Given the description of an element on the screen output the (x, y) to click on. 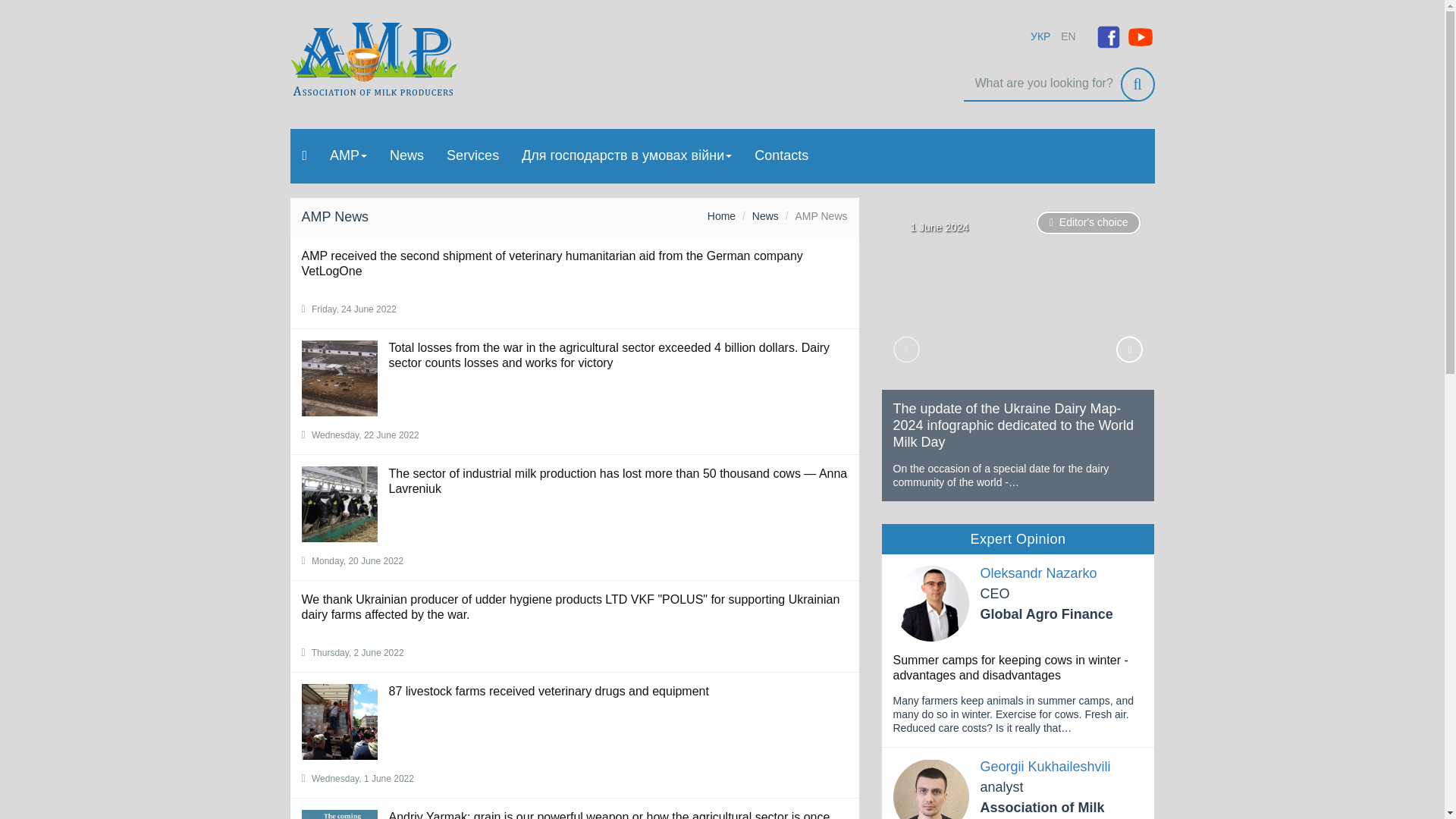
Oleksandr Nazarko (1037, 572)
Home (721, 215)
EN (1068, 36)
Services (473, 155)
News (406, 155)
Expert Opinion (1018, 539)
AMP (348, 155)
News (765, 215)
 Editor's choice (1088, 222)
